Given the description of an element on the screen output the (x, y) to click on. 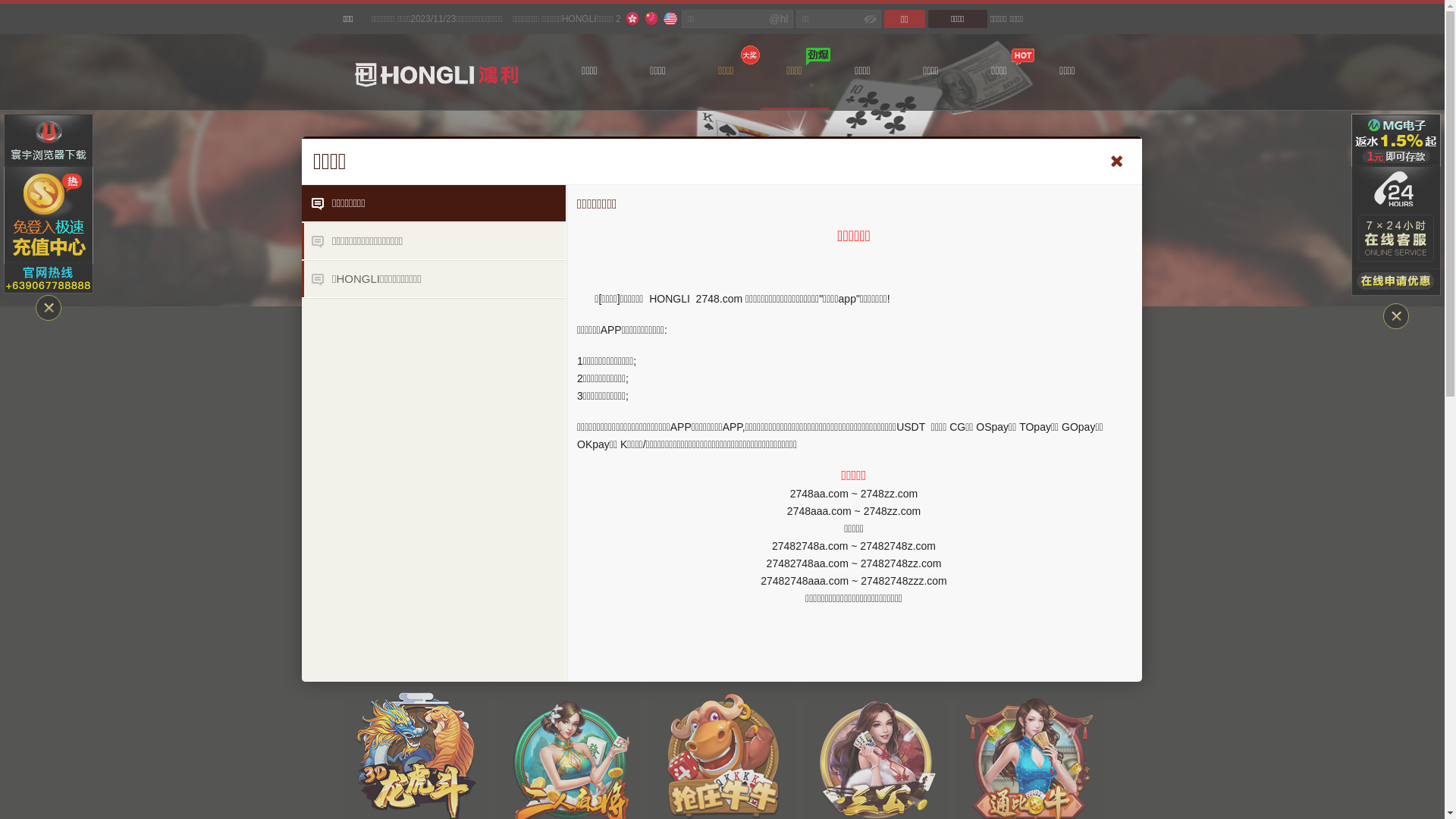
English Element type: hover (670, 18)
